Given the description of an element on the screen output the (x, y) to click on. 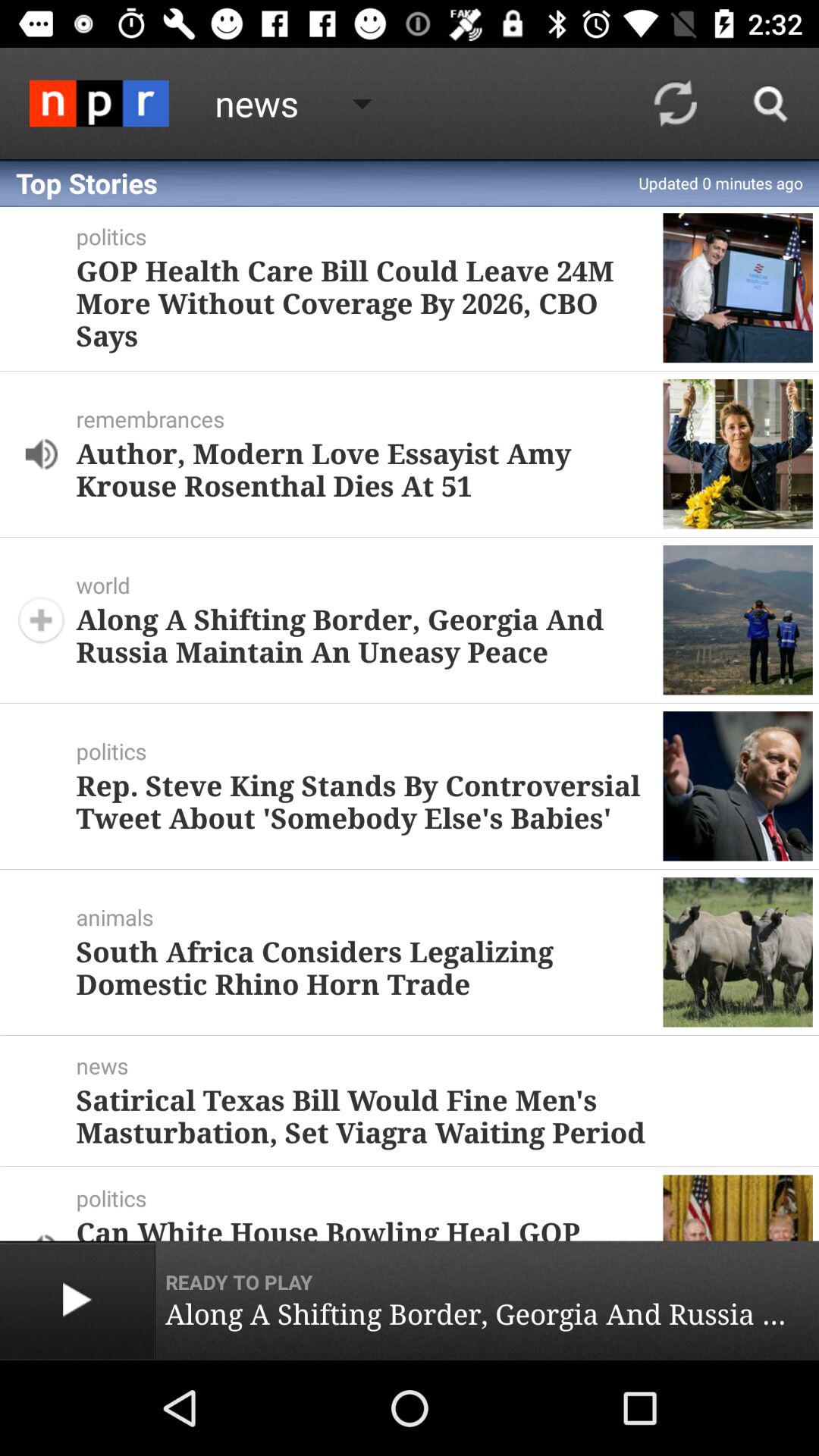
scroll to the author modern love (363, 468)
